Given the description of an element on the screen output the (x, y) to click on. 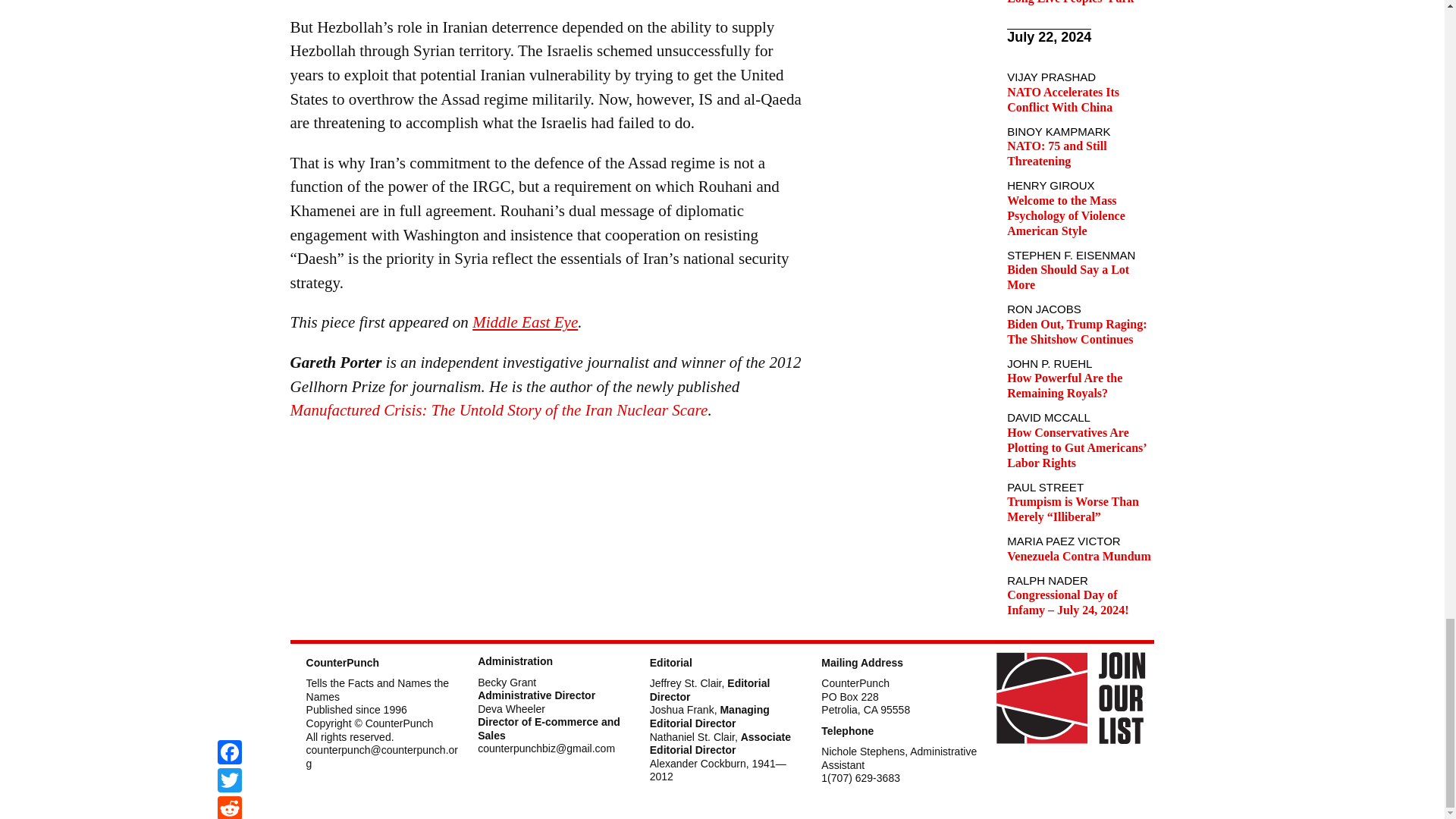
Middle East Eye (524, 321)
